Given the description of an element on the screen output the (x, y) to click on. 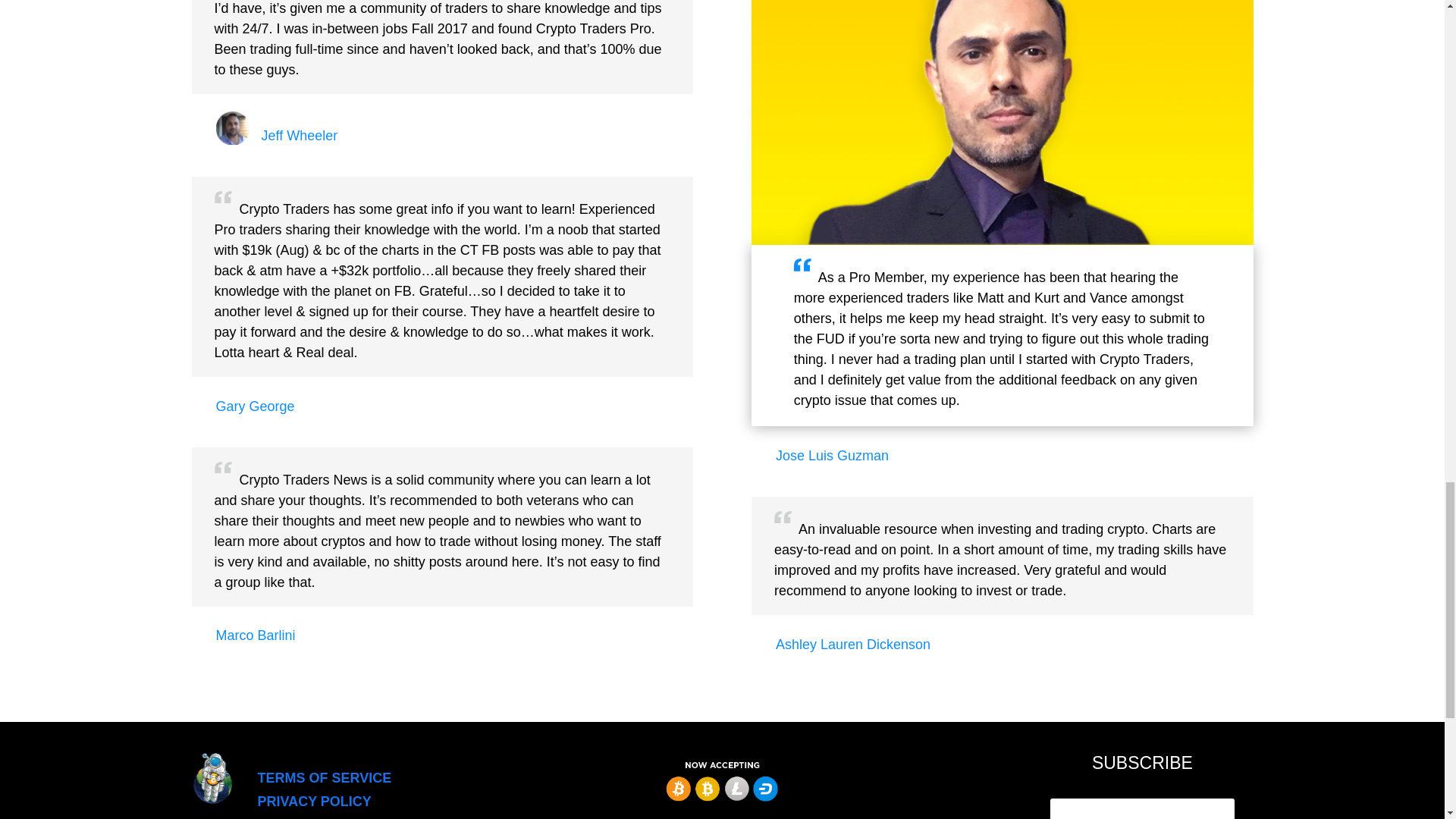
PRIVACY POLICY (314, 801)
TERMS OF SERVICE (324, 777)
